Given the description of an element on the screen output the (x, y) to click on. 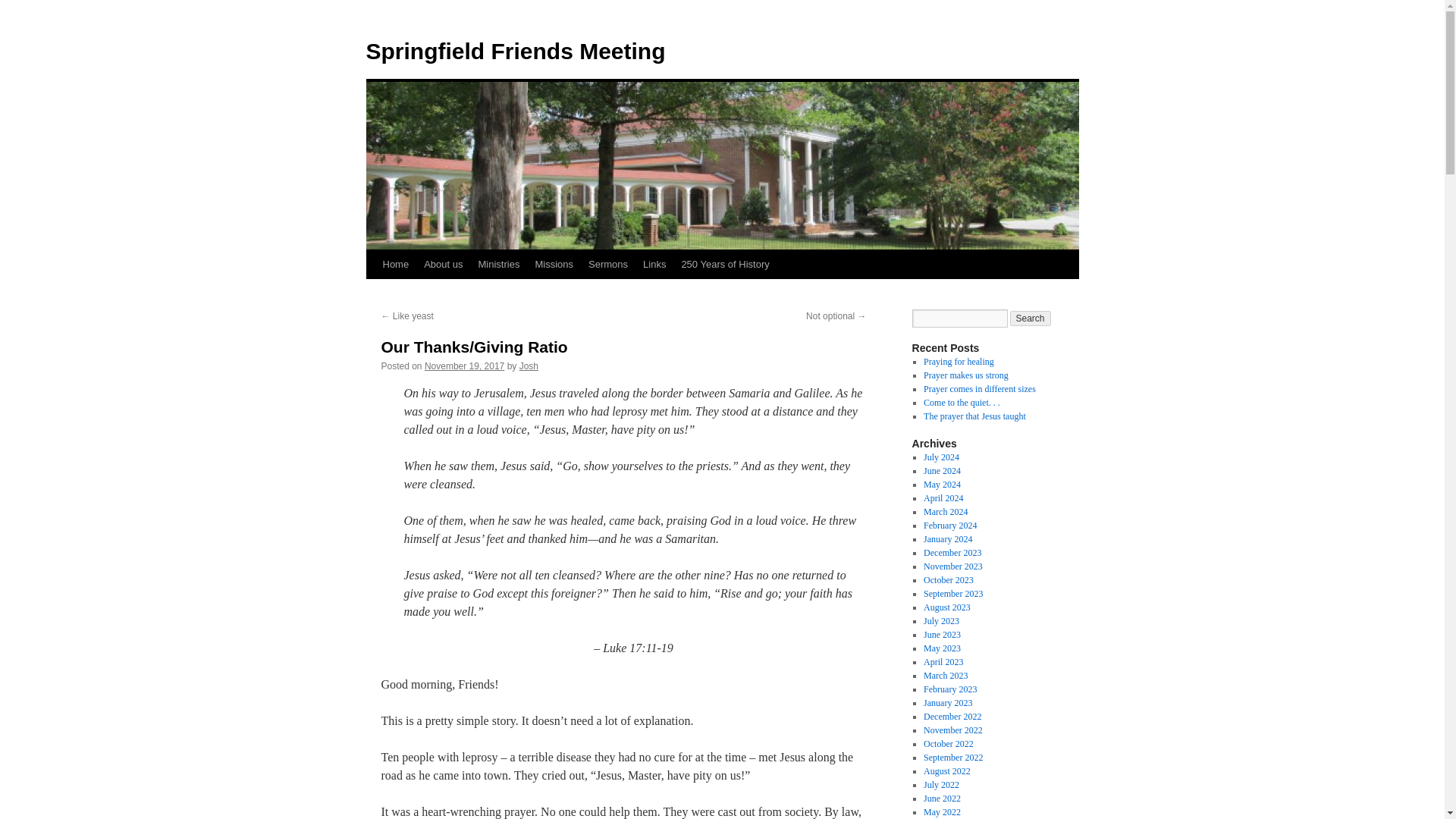
November 19, 2017 (464, 366)
Springfield Friends Meeting (515, 50)
View all posts by Josh (528, 366)
Sermons (607, 264)
6:28 pm (464, 366)
About us (443, 264)
Links (653, 264)
Home (395, 264)
Search (1030, 318)
250 Years of History (724, 264)
Ministries (498, 264)
Missions (553, 264)
